Given the description of an element on the screen output the (x, y) to click on. 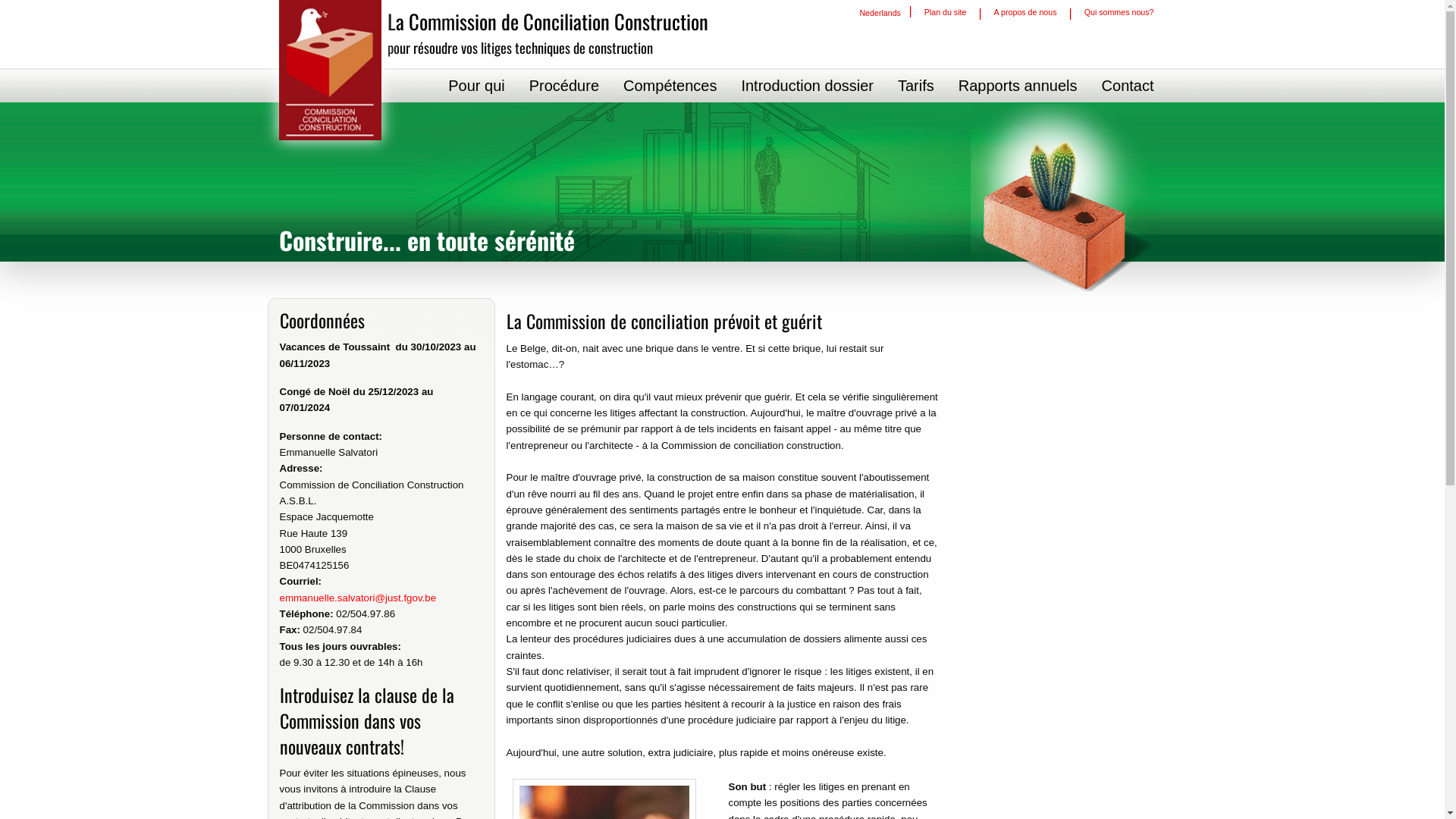
Qui sommes nous? Element type: text (1119, 12)
Plan du site Element type: text (945, 12)
Contact Element type: text (1127, 85)
La Commission de Conciliation Construction Element type: text (547, 21)
Accueil Element type: hover (330, 70)
emmanuelle.salvatori@just.fgov.be Element type: text (357, 597)
Tarifs Element type: text (915, 85)
Introduction dossier Element type: text (806, 85)
A propos de nous Element type: text (1025, 12)
Aller au contenu principal Element type: text (0, 0)
Nederlands Element type: text (880, 12)
Rapports annuels Element type: text (1017, 85)
Pour qui Element type: text (476, 85)
